Given the description of an element on the screen output the (x, y) to click on. 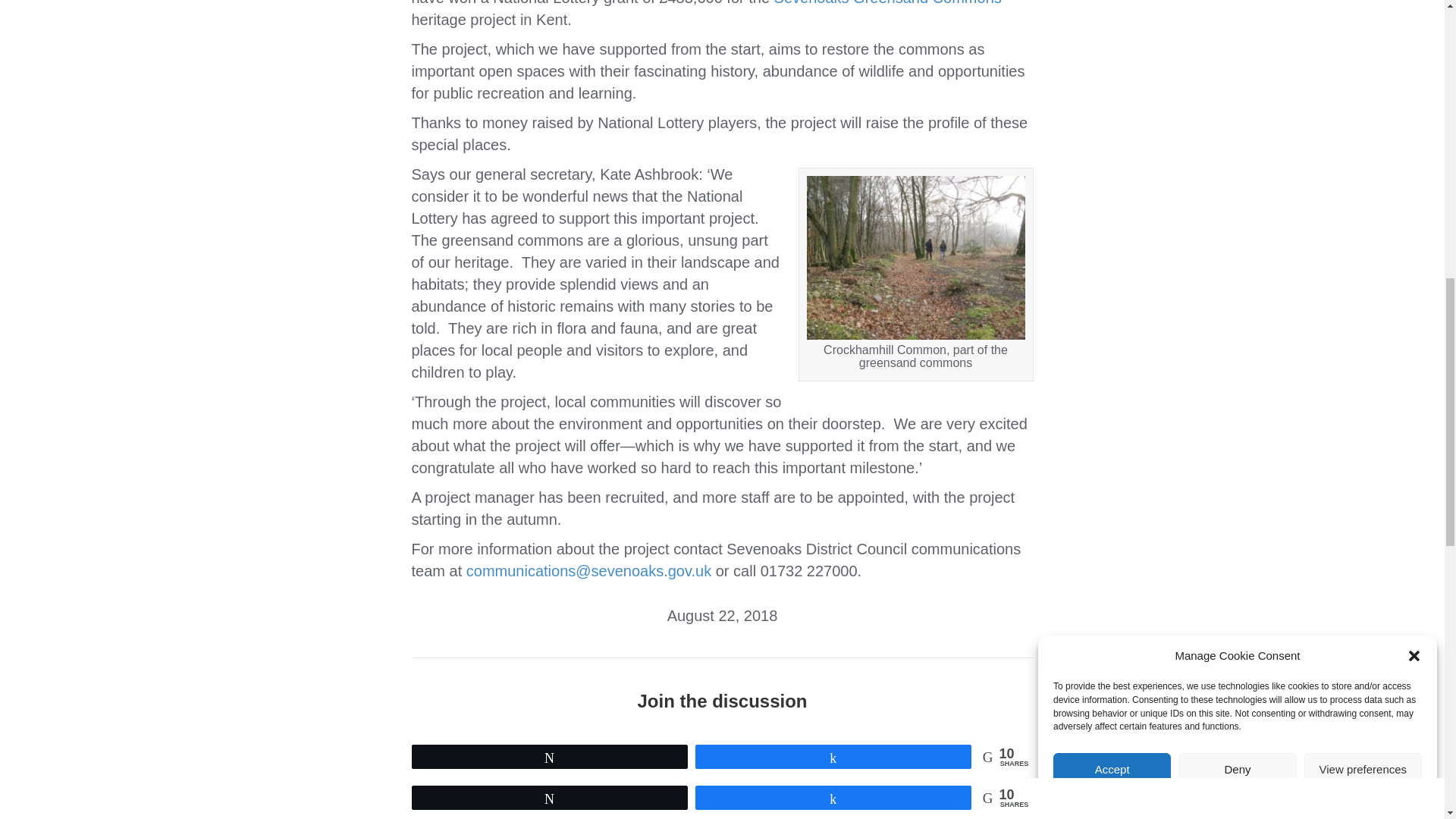
View preferences (1363, 100)
Deny (1236, 112)
Cookie Policy (1196, 76)
Privacy Statement (1268, 69)
Accept (1111, 136)
